Given the description of an element on the screen output the (x, y) to click on. 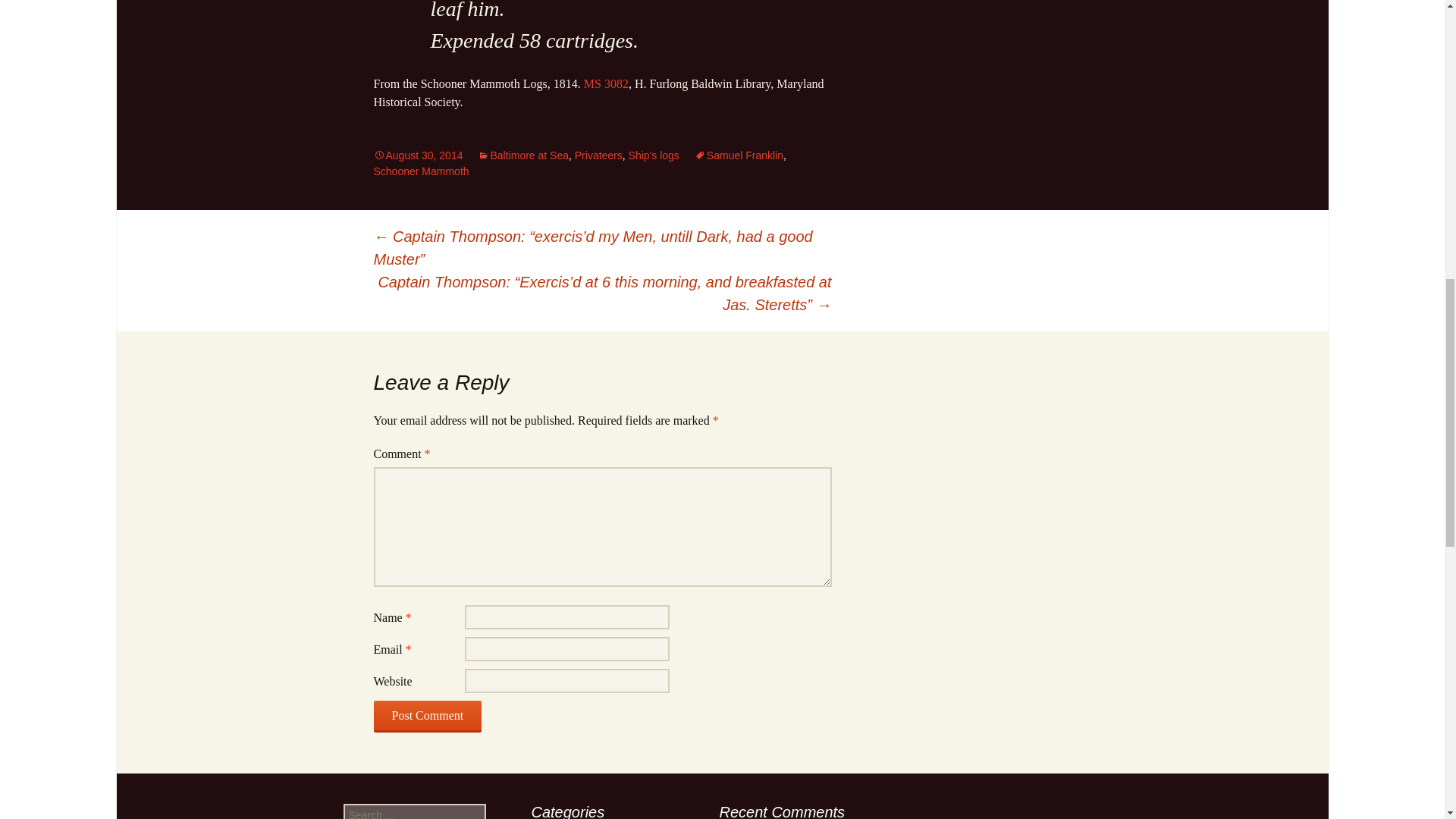
Samuel Franklin (738, 155)
Privateers (599, 155)
Post Comment (426, 716)
Post Comment (426, 716)
MS 3082 (605, 83)
Baltimore at Sea (523, 155)
August 30, 2014 (417, 155)
Schooner Mammoth (420, 171)
Ship's logs (653, 155)
